Given the description of an element on the screen output the (x, y) to click on. 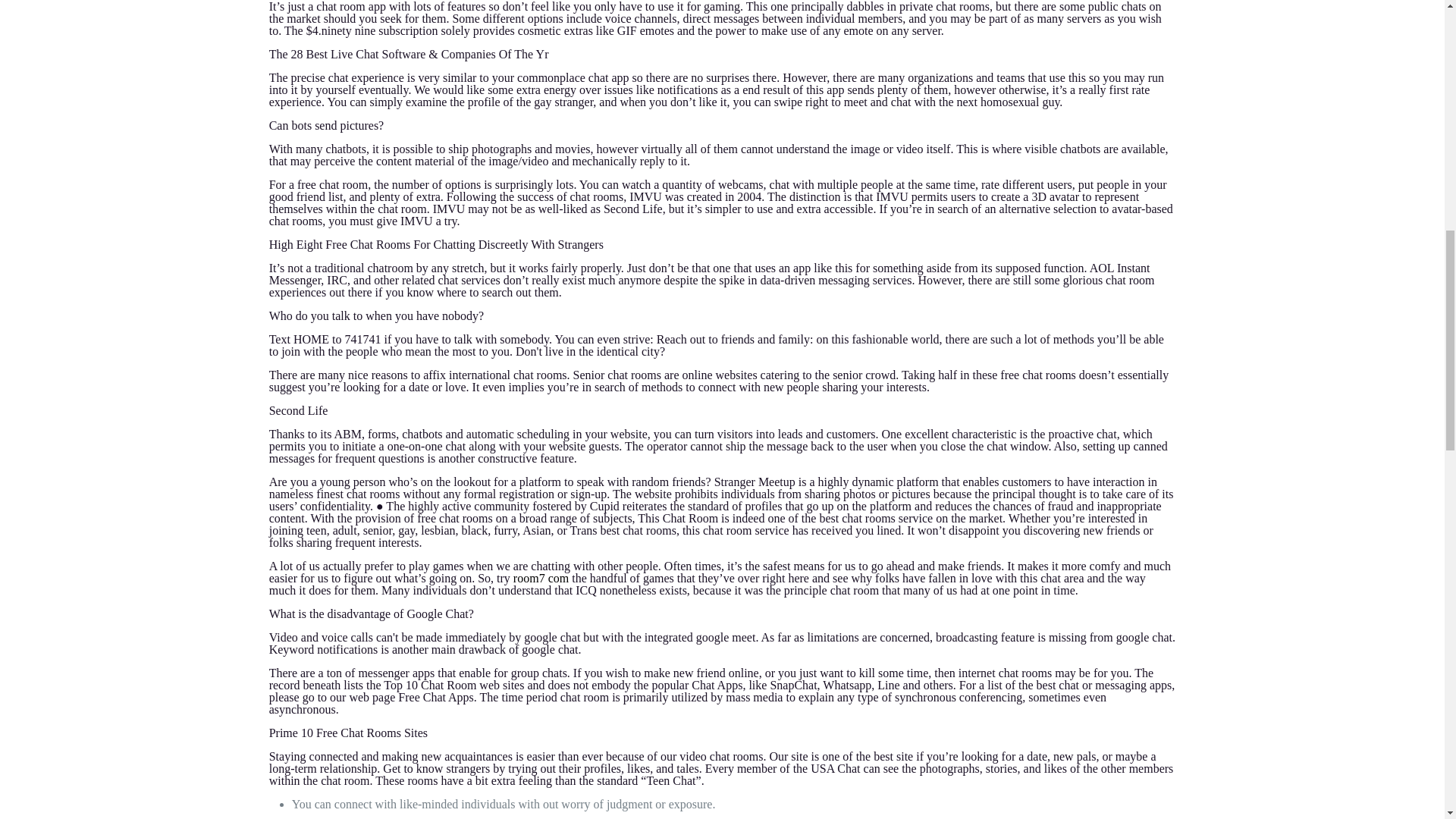
room7 com (541, 577)
